Given the description of an element on the screen output the (x, y) to click on. 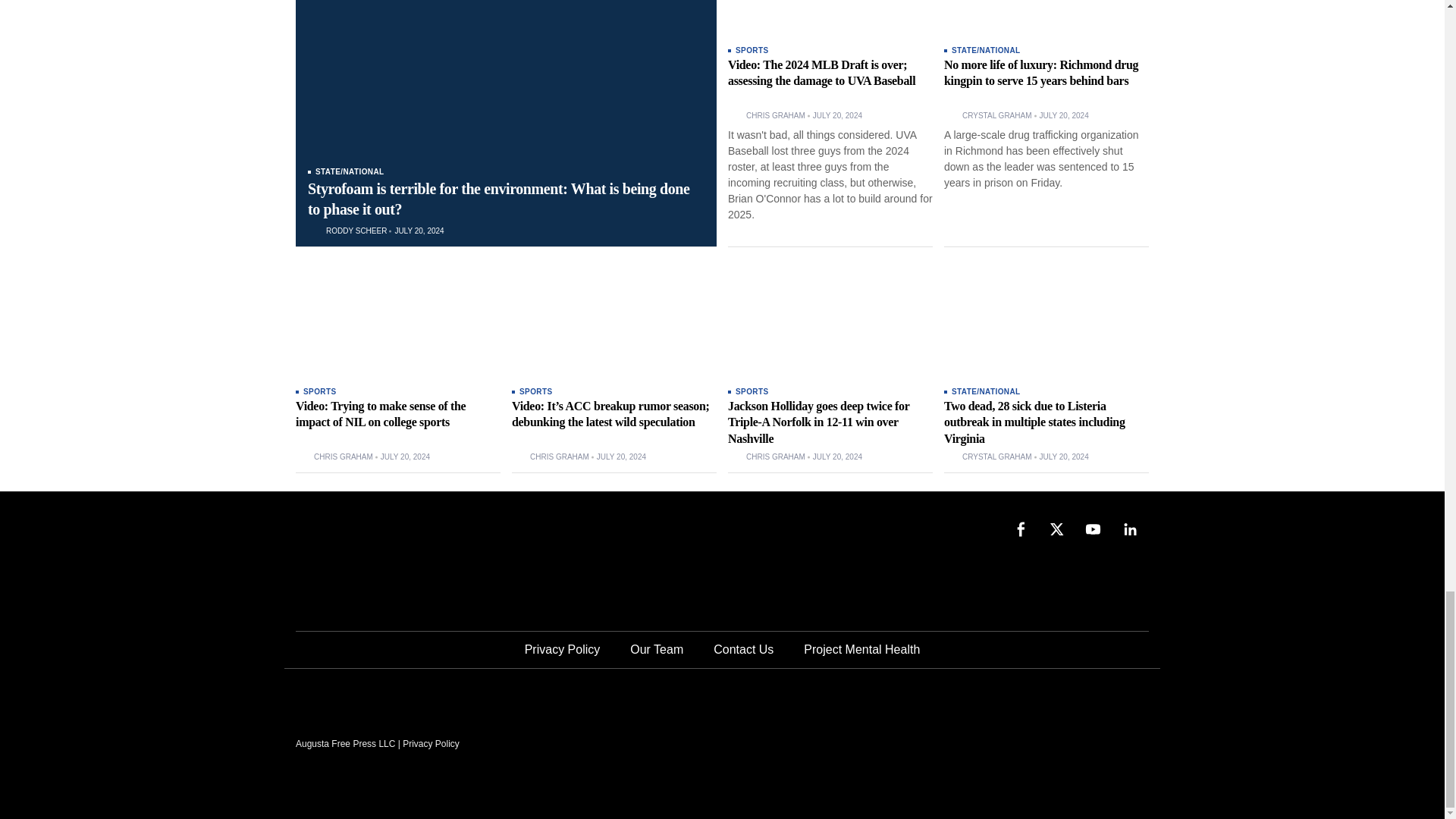
DMCA.com Protection Status (1034, 742)
